Given the description of an element on the screen output the (x, y) to click on. 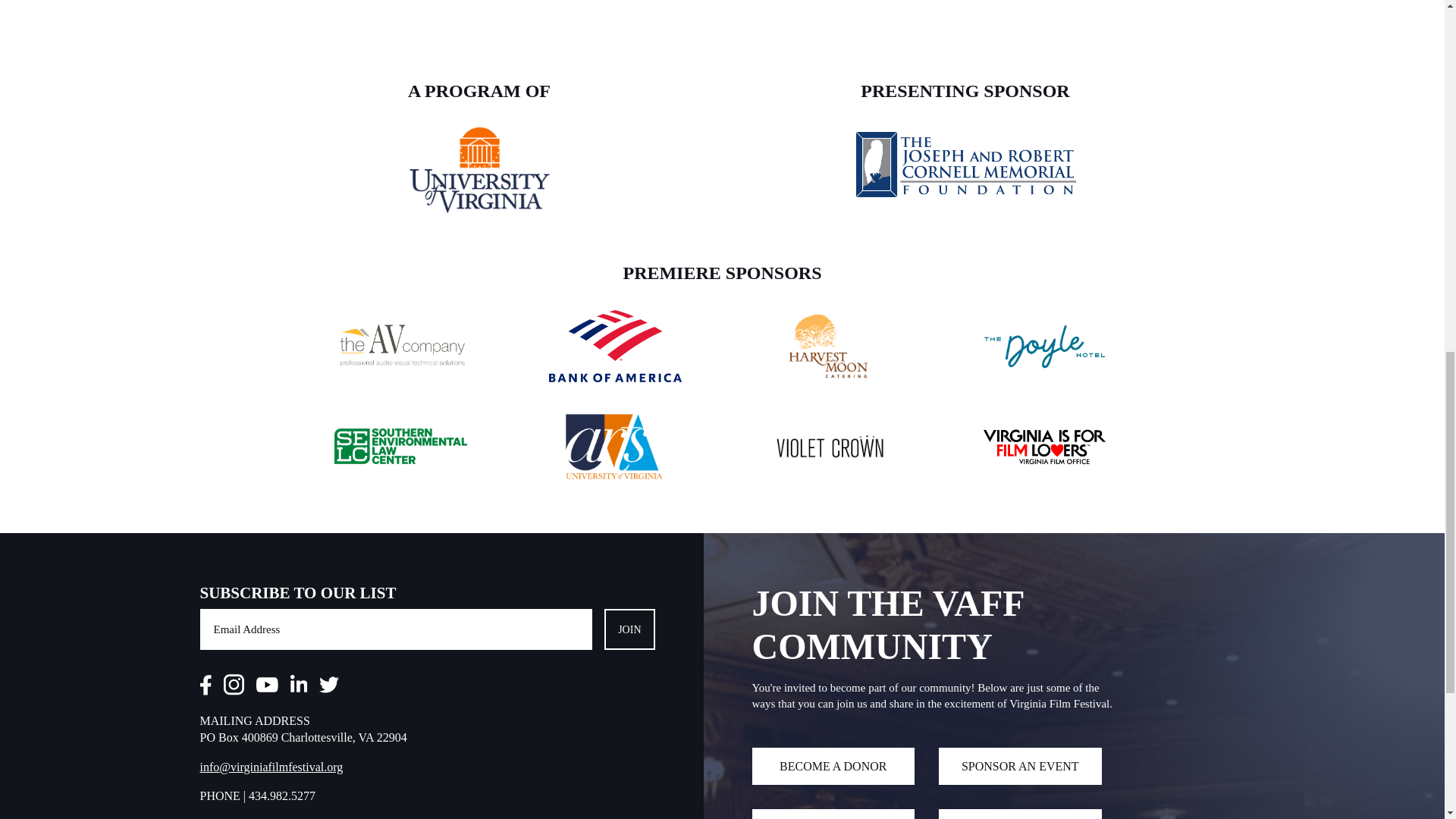
LinkedIn (298, 686)
Facebook (205, 687)
Instagram (232, 687)
Youtube (267, 686)
Twitter (328, 686)
